Given the description of an element on the screen output the (x, y) to click on. 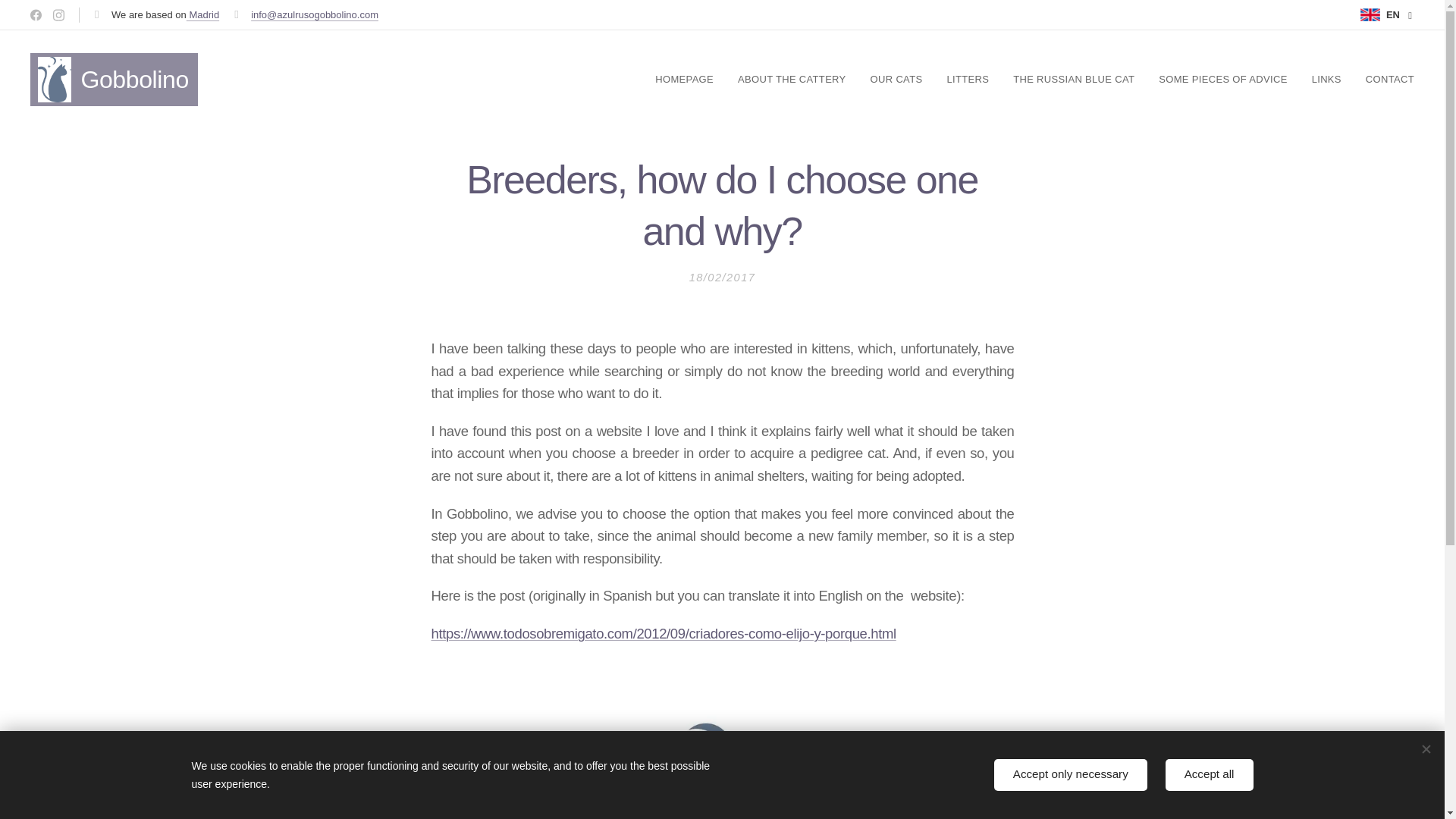
Accept only necessary (1070, 774)
OUR CATS (896, 79)
Madrid (202, 14)
Facebook (35, 14)
CONTACT (1383, 79)
Instagram (58, 14)
LINKS (1327, 79)
THE RUSSIAN BLUE CAT (1074, 79)
HOMEPAGE (687, 79)
LITTERS (967, 79)
SOME PIECES OF ADVICE (1222, 79)
ABOUT THE CATTERY (792, 79)
Gobbolino (113, 79)
Accept all (1209, 774)
